Given the description of an element on the screen output the (x, y) to click on. 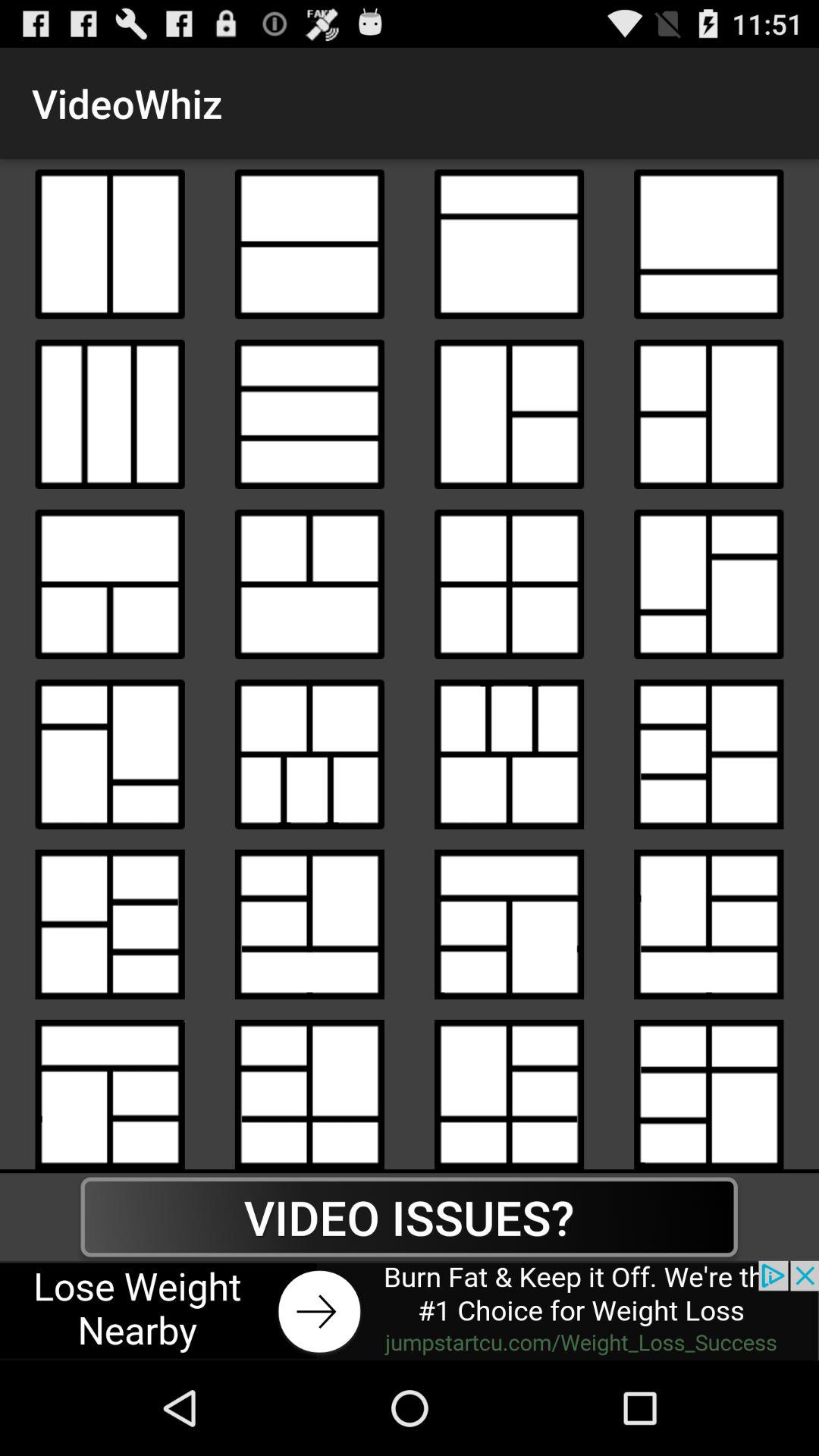
this video watch (309, 414)
